Given the description of an element on the screen output the (x, y) to click on. 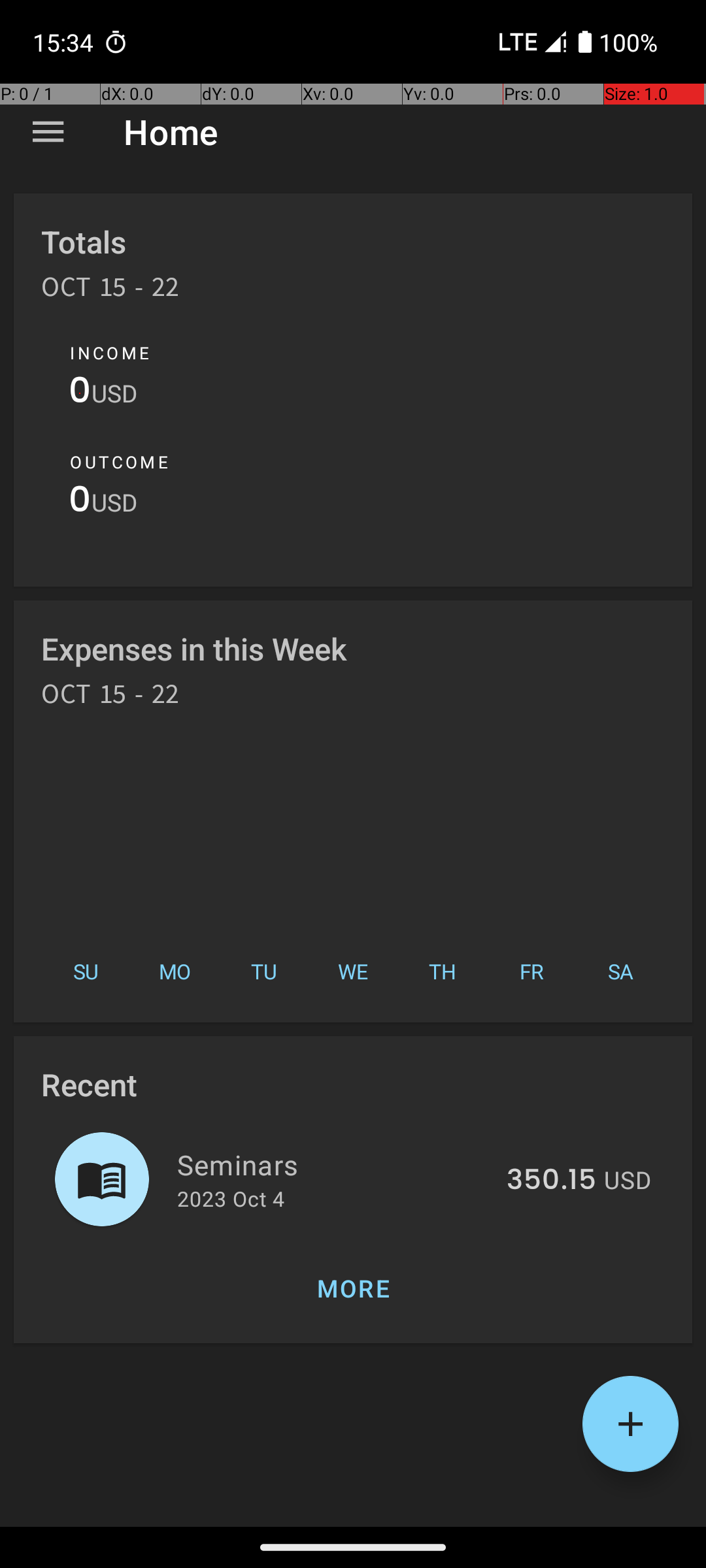
Seminars Element type: android.widget.TextView (334, 1164)
2023 Oct 4 Element type: android.widget.TextView (230, 1198)
350.15 Element type: android.widget.TextView (550, 1180)
